Given the description of an element on the screen output the (x, y) to click on. 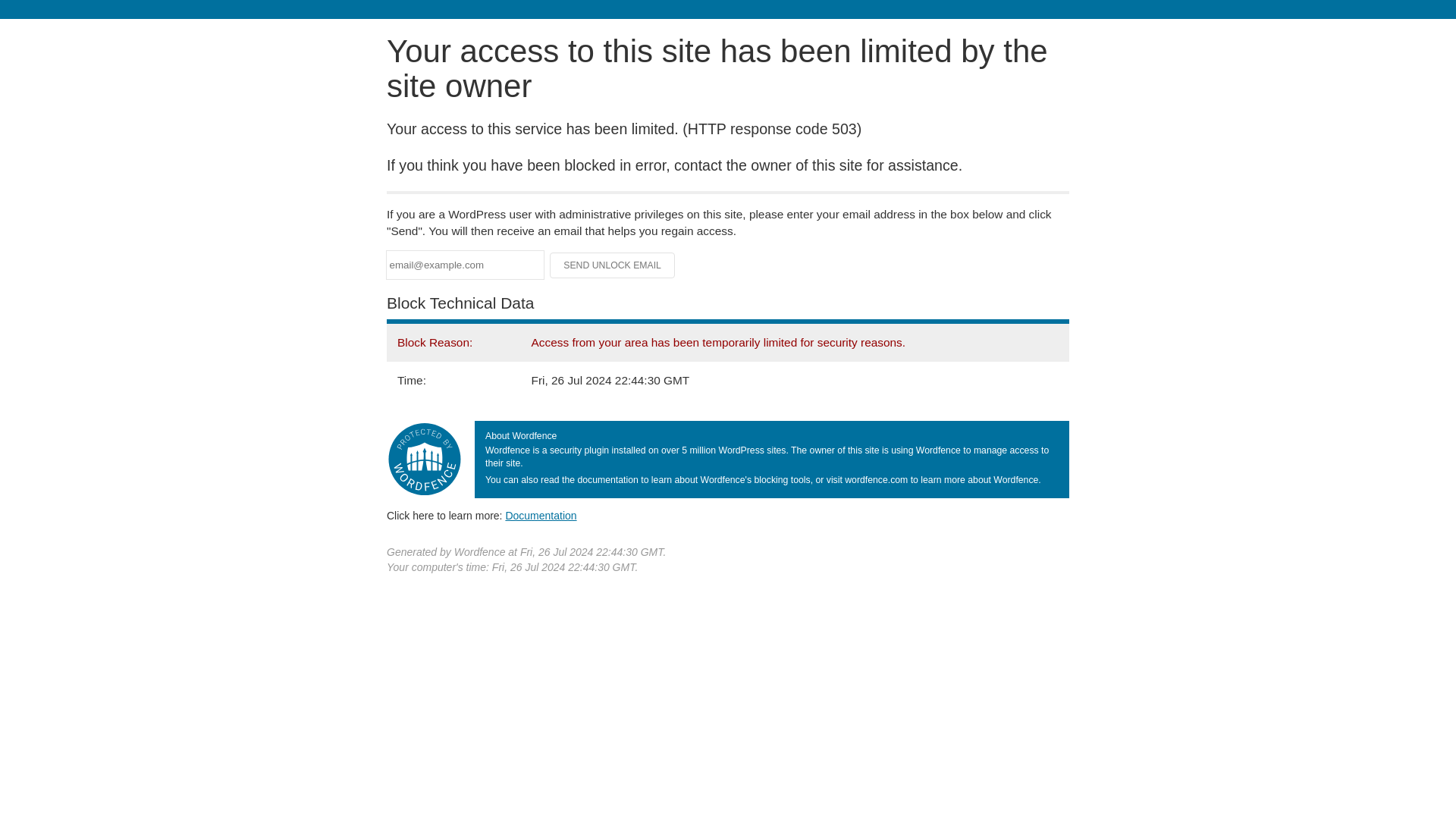
Documentation (540, 515)
Send Unlock Email (612, 265)
Send Unlock Email (612, 265)
